Given the description of an element on the screen output the (x, y) to click on. 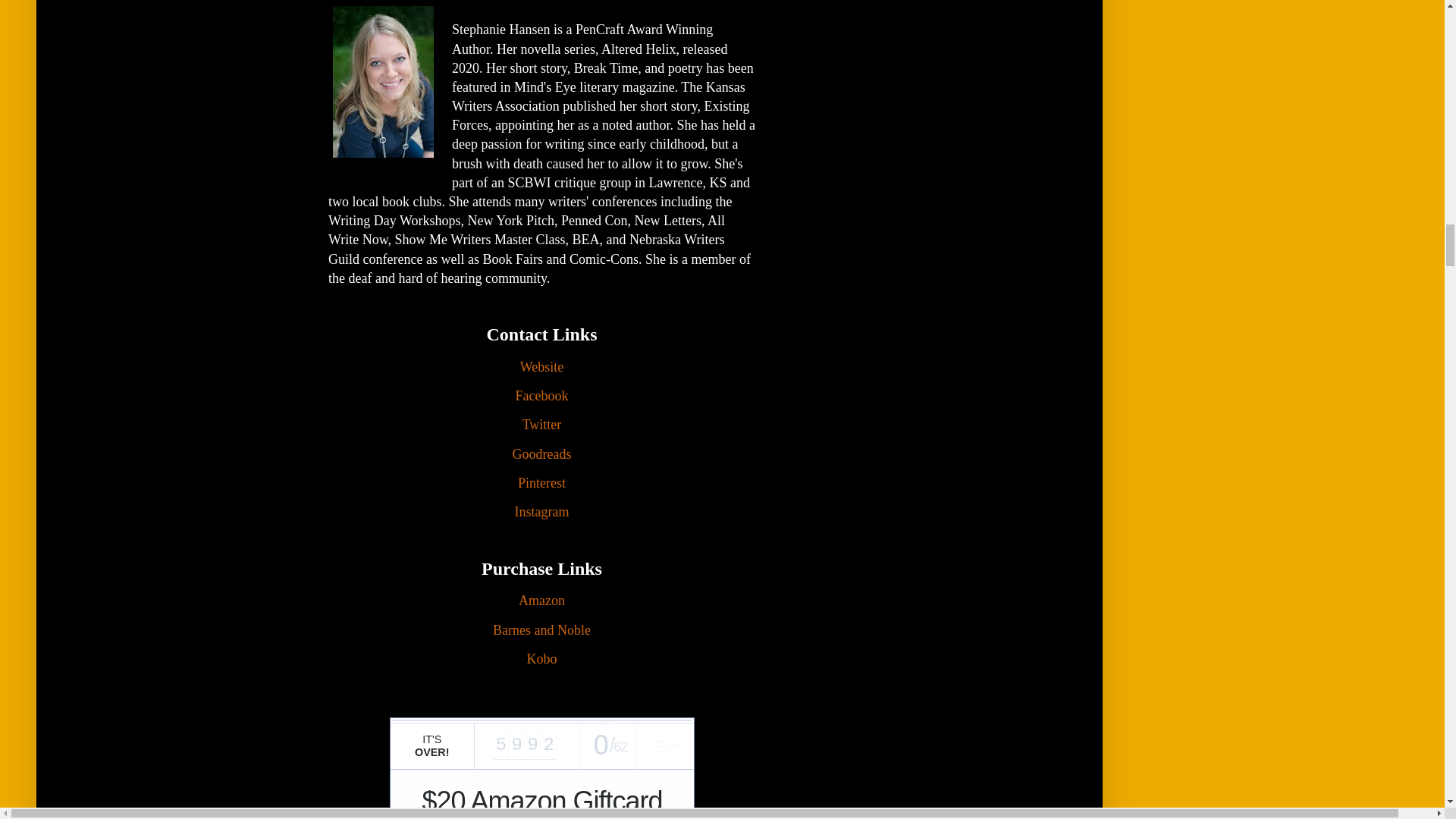
Amazon (541, 601)
Barnes and Noble (542, 631)
Website (541, 367)
Goodreads (542, 455)
Instagram (541, 512)
Facebook (542, 396)
Twitter (542, 425)
Pinterest (542, 483)
Kobo (540, 659)
